Given the description of an element on the screen output the (x, y) to click on. 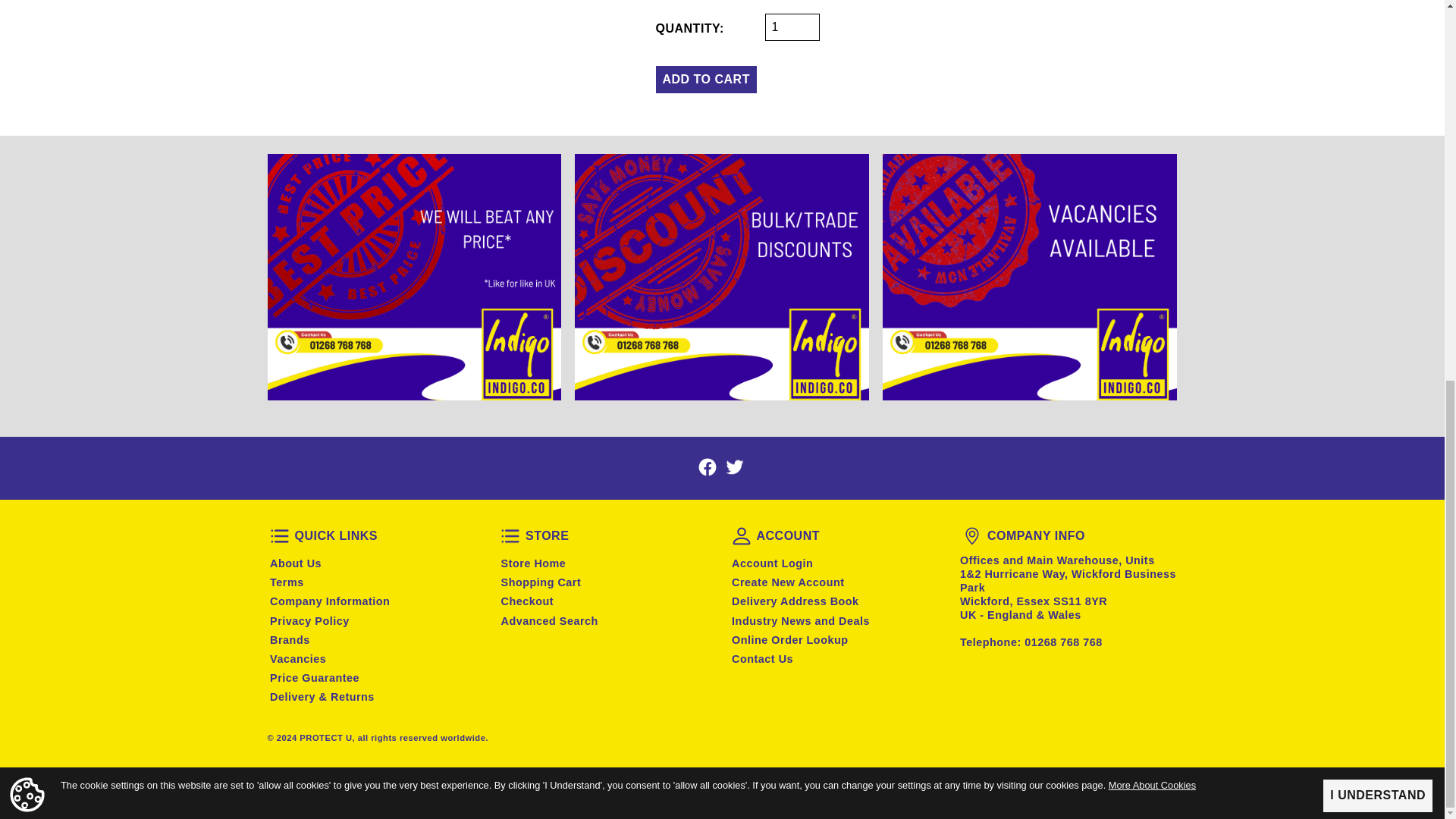
Add to Cart (705, 79)
Quantity (791, 26)
Add to Cart (705, 79)
1 (791, 26)
